Given the description of an element on the screen output the (x, y) to click on. 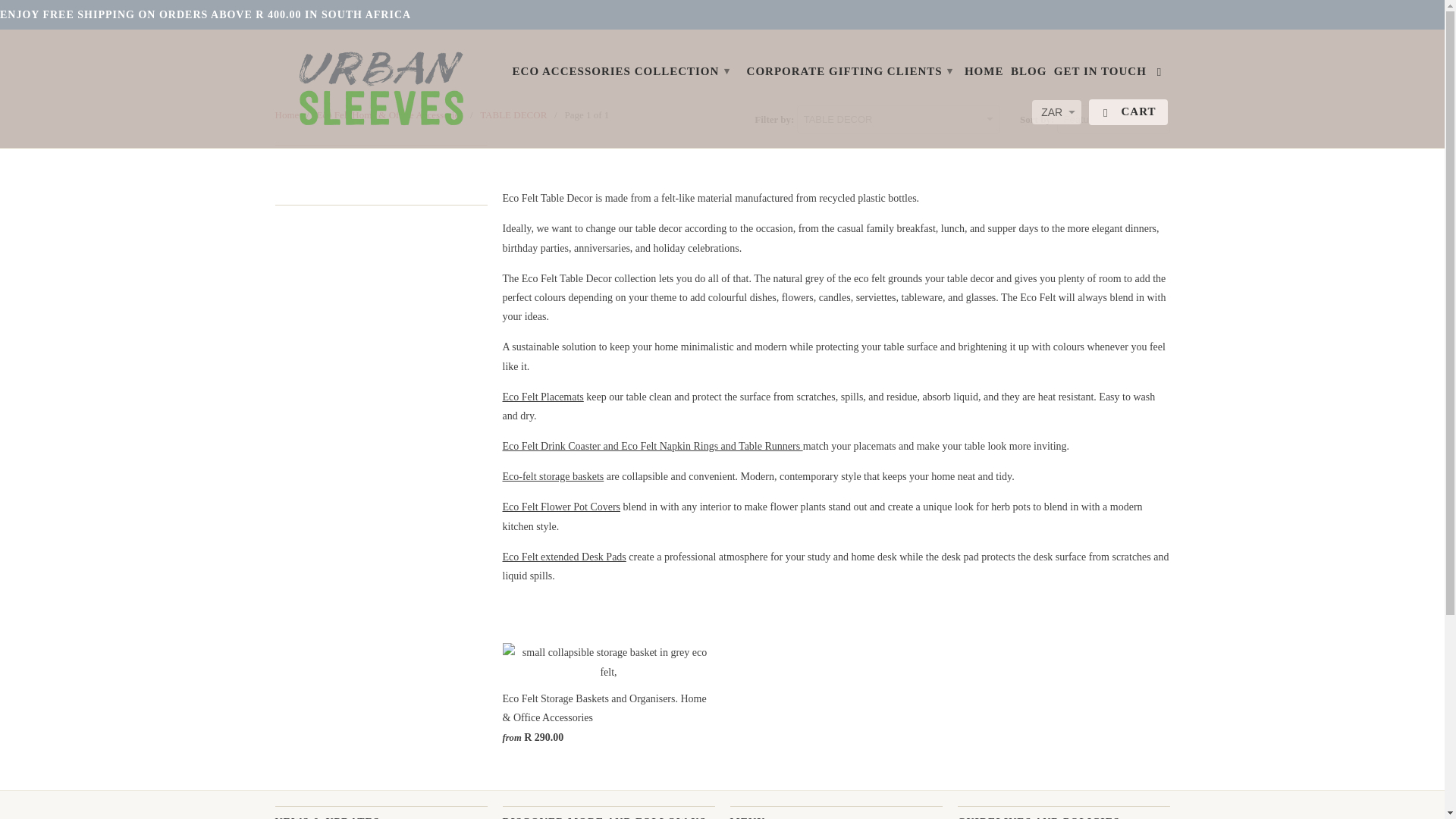
GET IN TOUCH (1100, 74)
Home (286, 114)
CART (1128, 112)
TABLE DECOR (513, 114)
HOME (983, 74)
Urban Sleeves  (380, 88)
Urban Sleeves  (286, 114)
BLOG (1028, 74)
TABLE DECOR (513, 114)
